Given the description of an element on the screen output the (x, y) to click on. 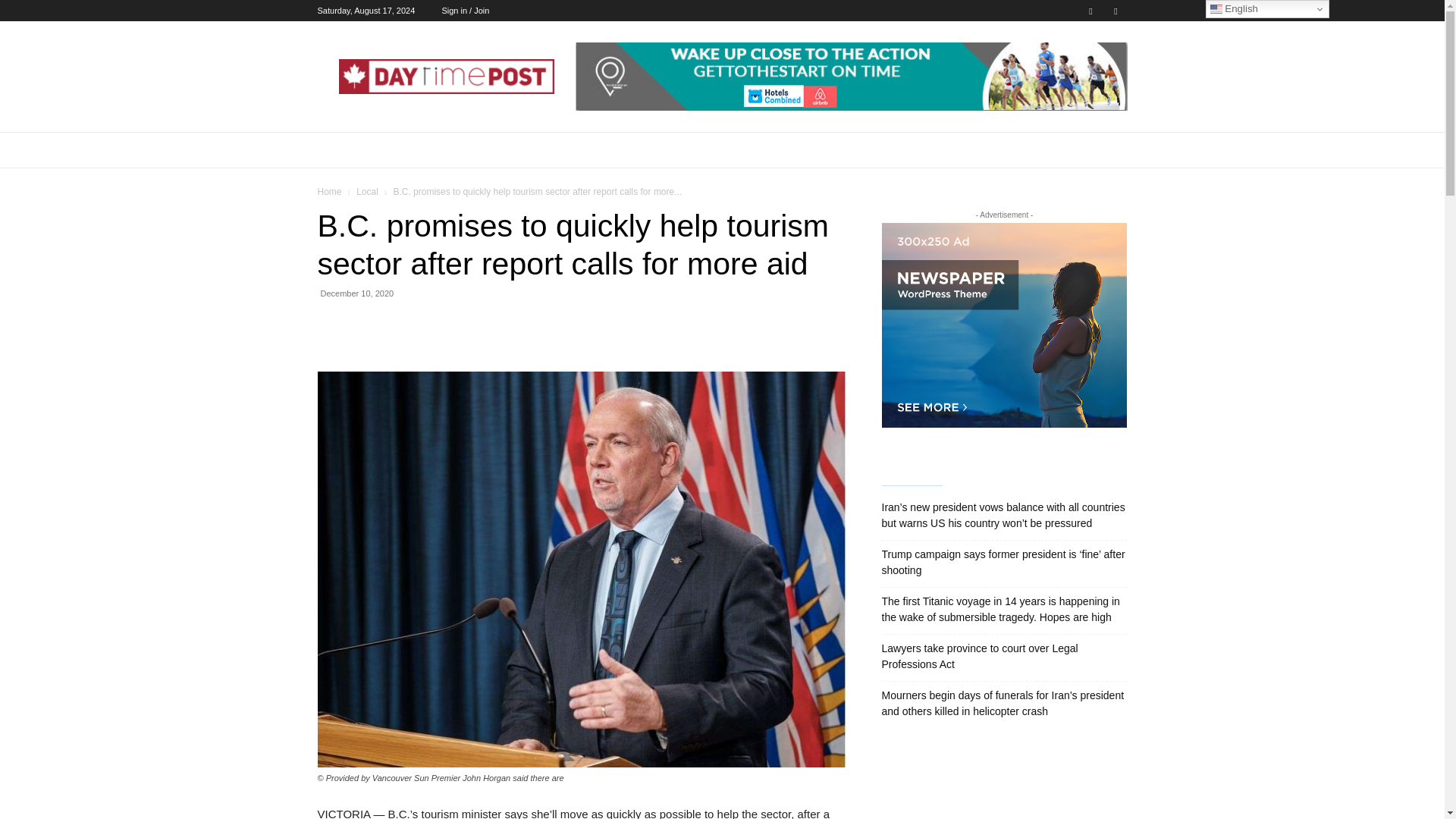
CANADA (475, 149)
Facebook (1090, 10)
LOCAL (705, 149)
Home (328, 191)
Youtube (1114, 10)
Search (1085, 210)
HOME (343, 149)
ECONOMY (406, 149)
LIFESTYLE (639, 149)
CRIME (927, 149)
